Given the description of an element on the screen output the (x, y) to click on. 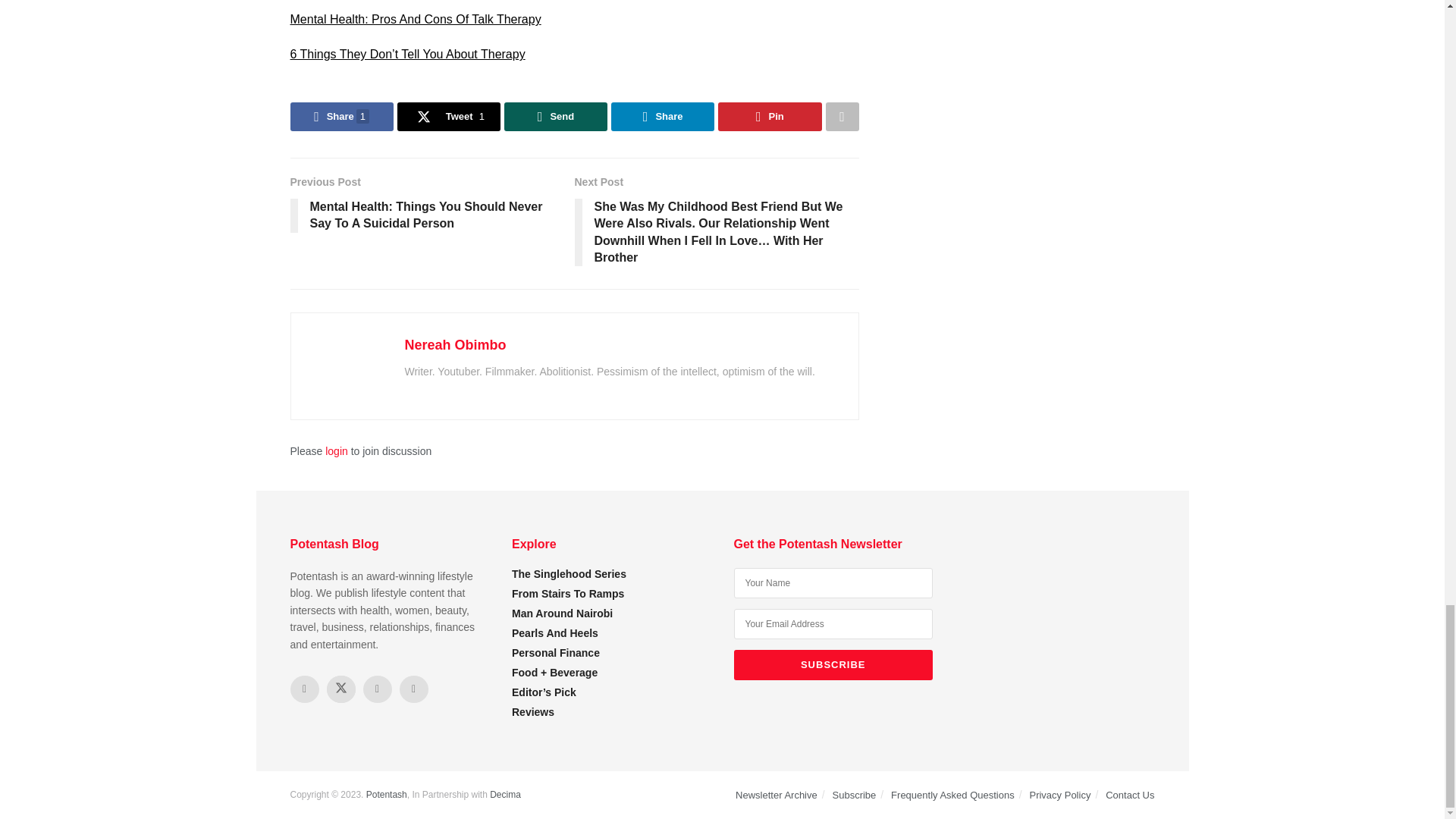
Subscribe (833, 665)
